Given the description of an element on the screen output the (x, y) to click on. 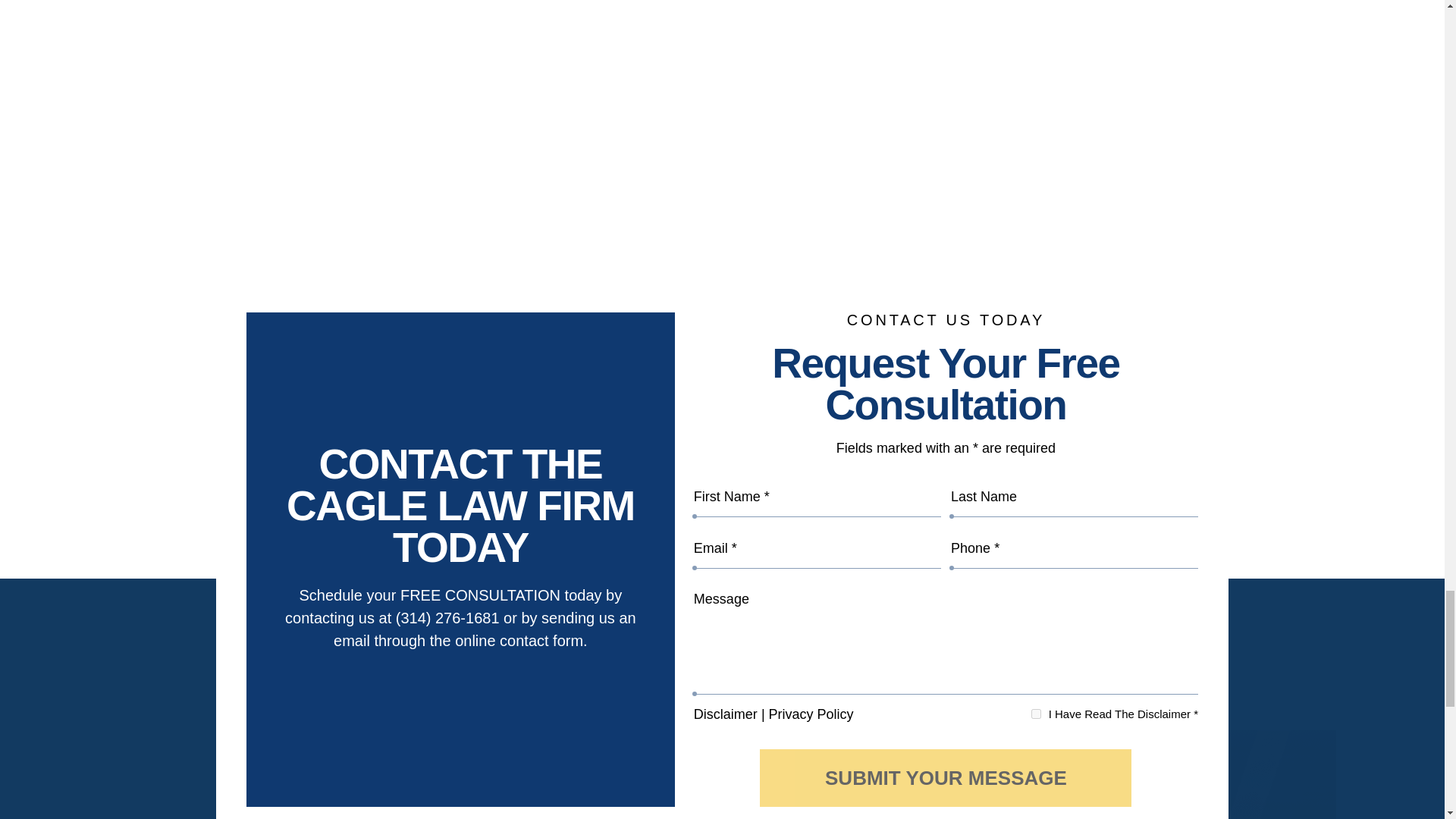
Submit Your Message (945, 777)
